Given the description of an element on the screen output the (x, y) to click on. 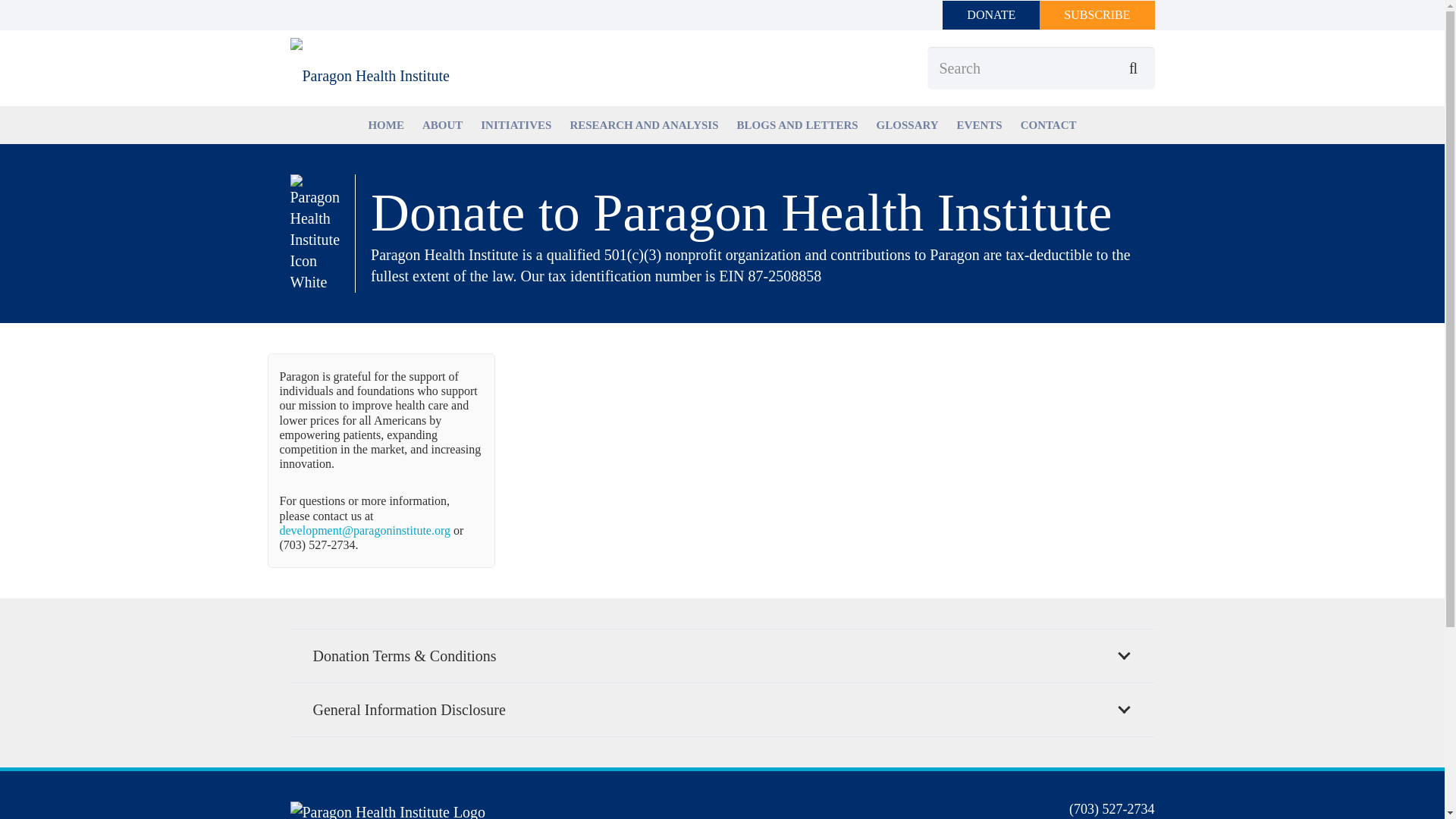
GLOSSARY (907, 124)
CONTACT (1048, 124)
RESEARCH AND ANALYSIS (643, 124)
BLOGS AND LETTERS (797, 124)
DONATE (990, 14)
ABOUT (442, 124)
EVENTS (979, 124)
HOME (385, 124)
INITIATIVES (515, 124)
SUBSCRIBE (1096, 14)
